Given the description of an element on the screen output the (x, y) to click on. 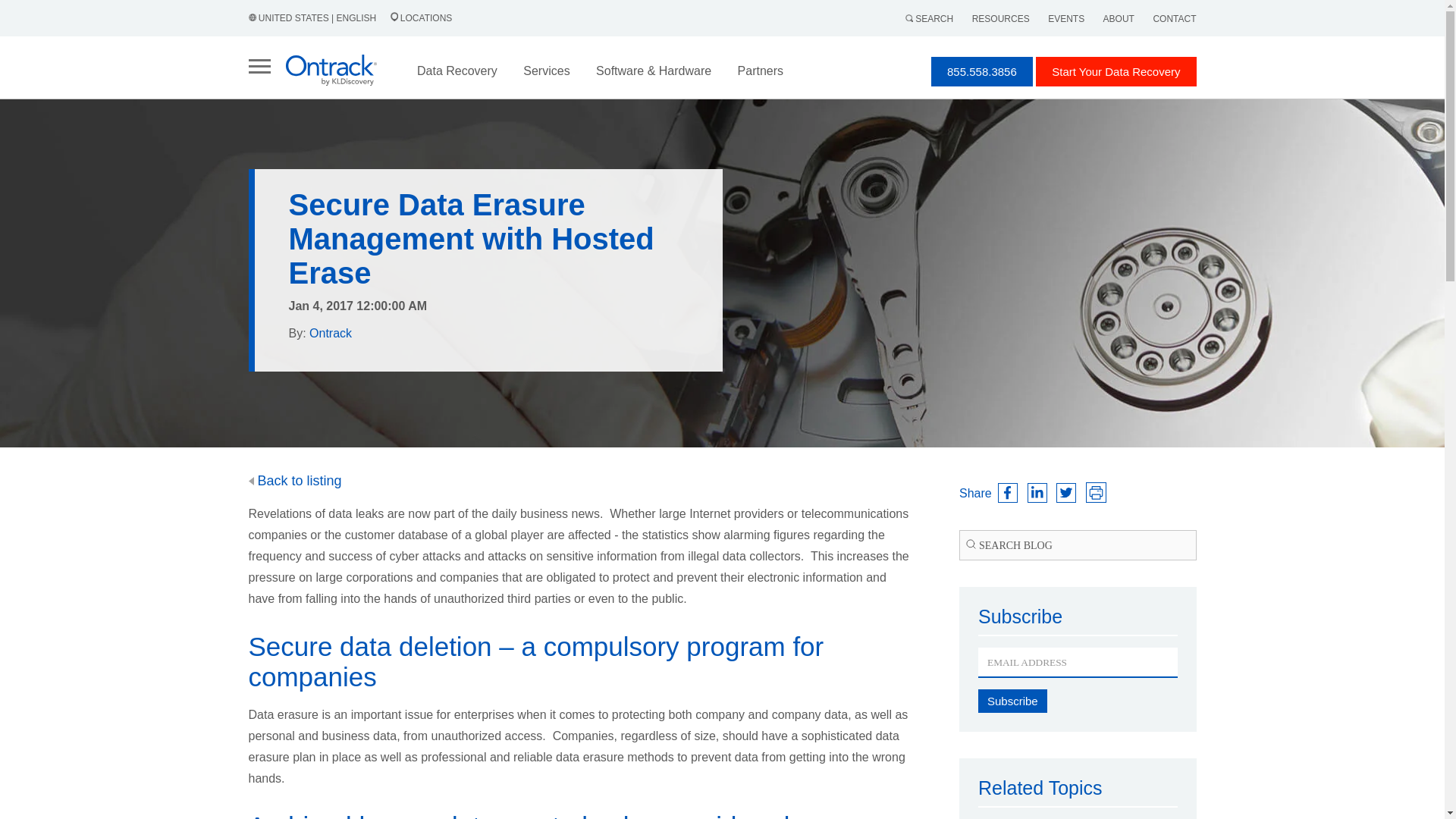
RESOURCES (1000, 18)
Subscribe (1012, 700)
ABOUT (1118, 18)
EVENTS (1066, 18)
LOCATIONS (415, 18)
CONTACT (1174, 18)
